Given the description of an element on the screen output the (x, y) to click on. 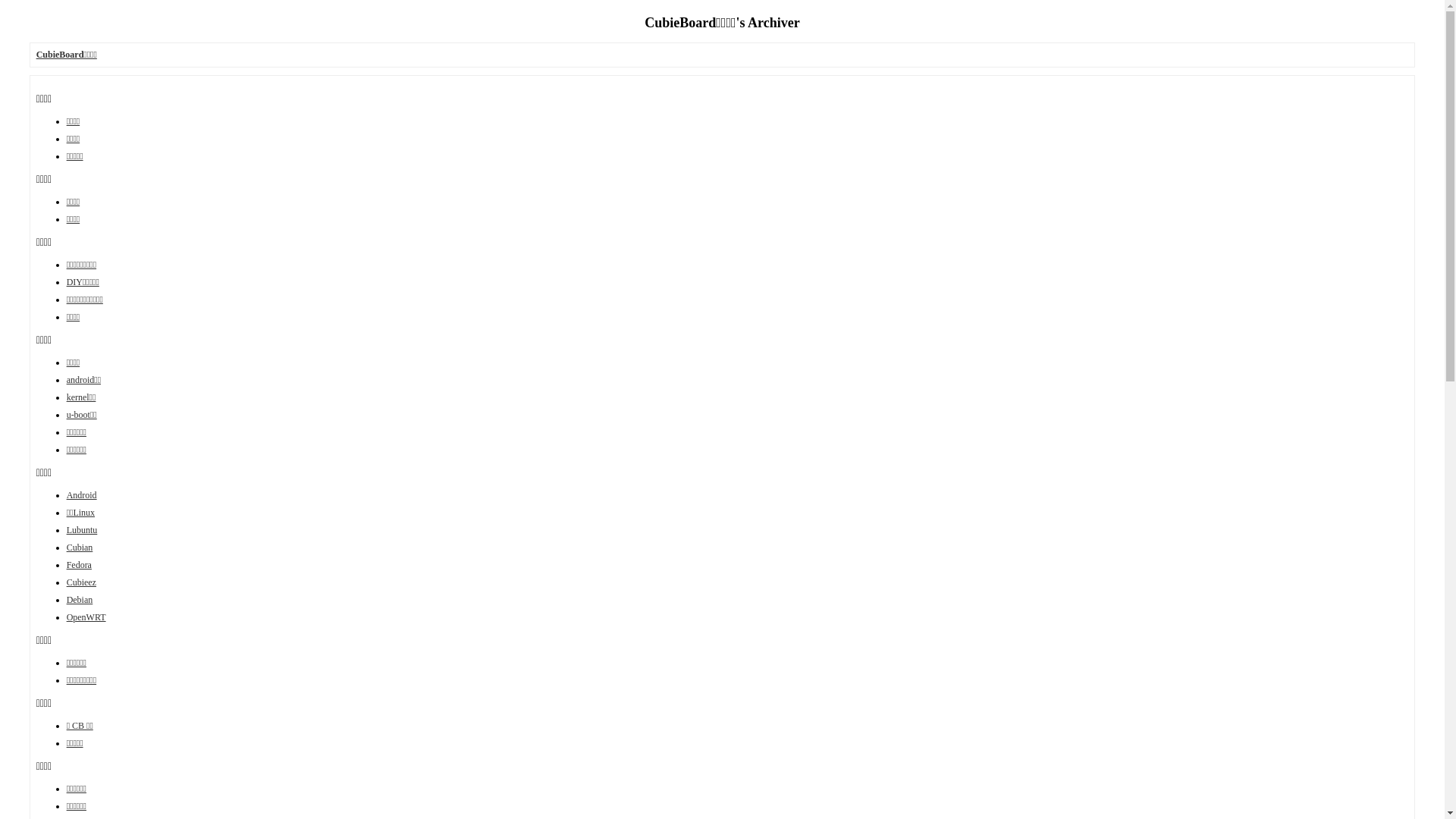
Cubian Element type: text (79, 547)
Debian Element type: text (79, 599)
Android Element type: text (81, 494)
Lubuntu Element type: text (81, 529)
Fedora Element type: text (78, 564)
OpenWRT Element type: text (86, 616)
Cubieez Element type: text (81, 582)
